Given the description of an element on the screen output the (x, y) to click on. 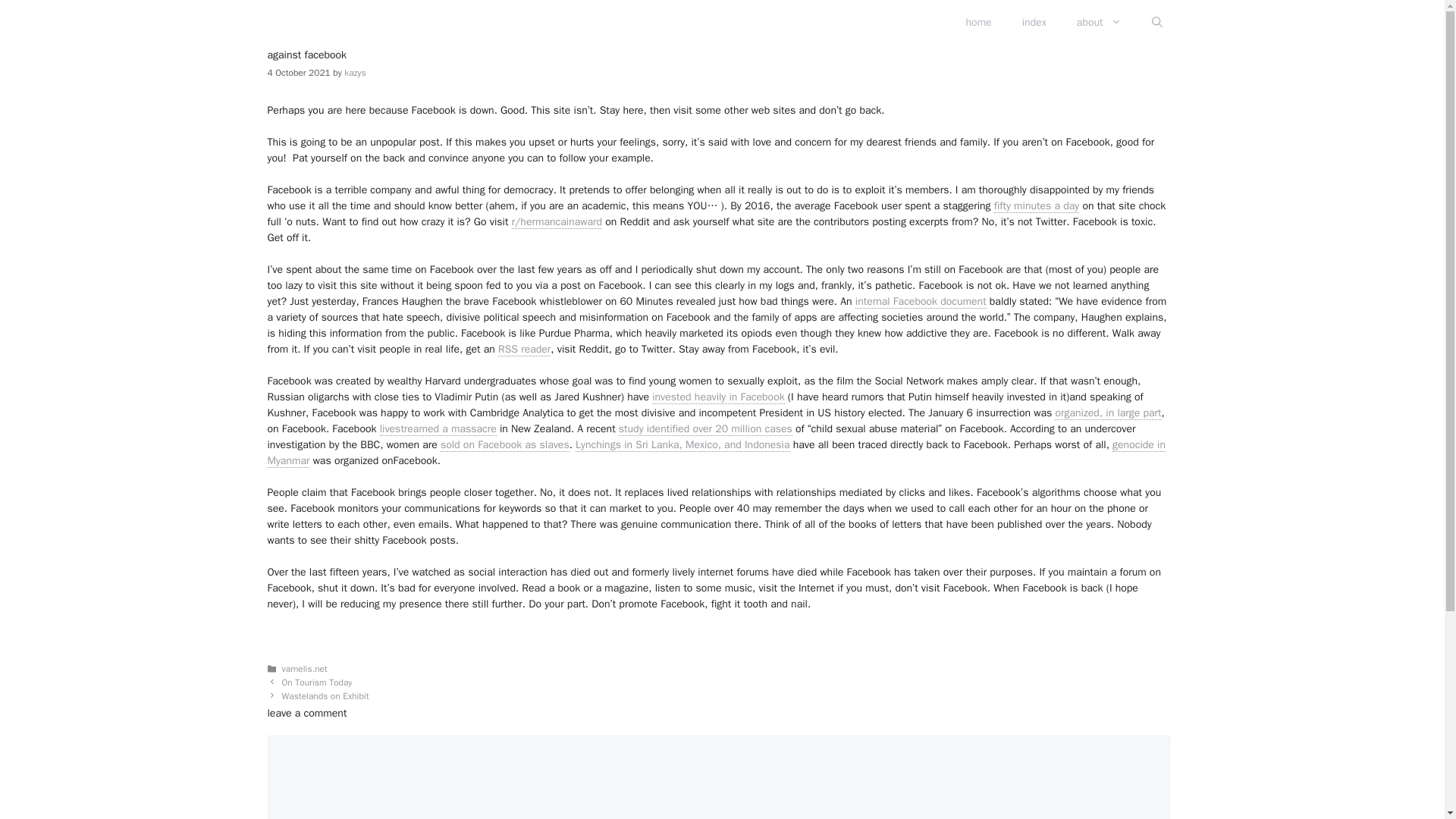
On Tourism Today (317, 682)
livestreamed a massacre (438, 428)
sold on Facebook as slaves (505, 445)
study identified over 20 million cases (705, 428)
fifty minutes a day (1036, 205)
RSS reader (523, 349)
organized, in large part (1107, 413)
Lynchings in Sri Lanka, Mexico, and Indonesia (682, 445)
varnelis.net (304, 668)
about (1099, 22)
